Given the description of an element on the screen output the (x, y) to click on. 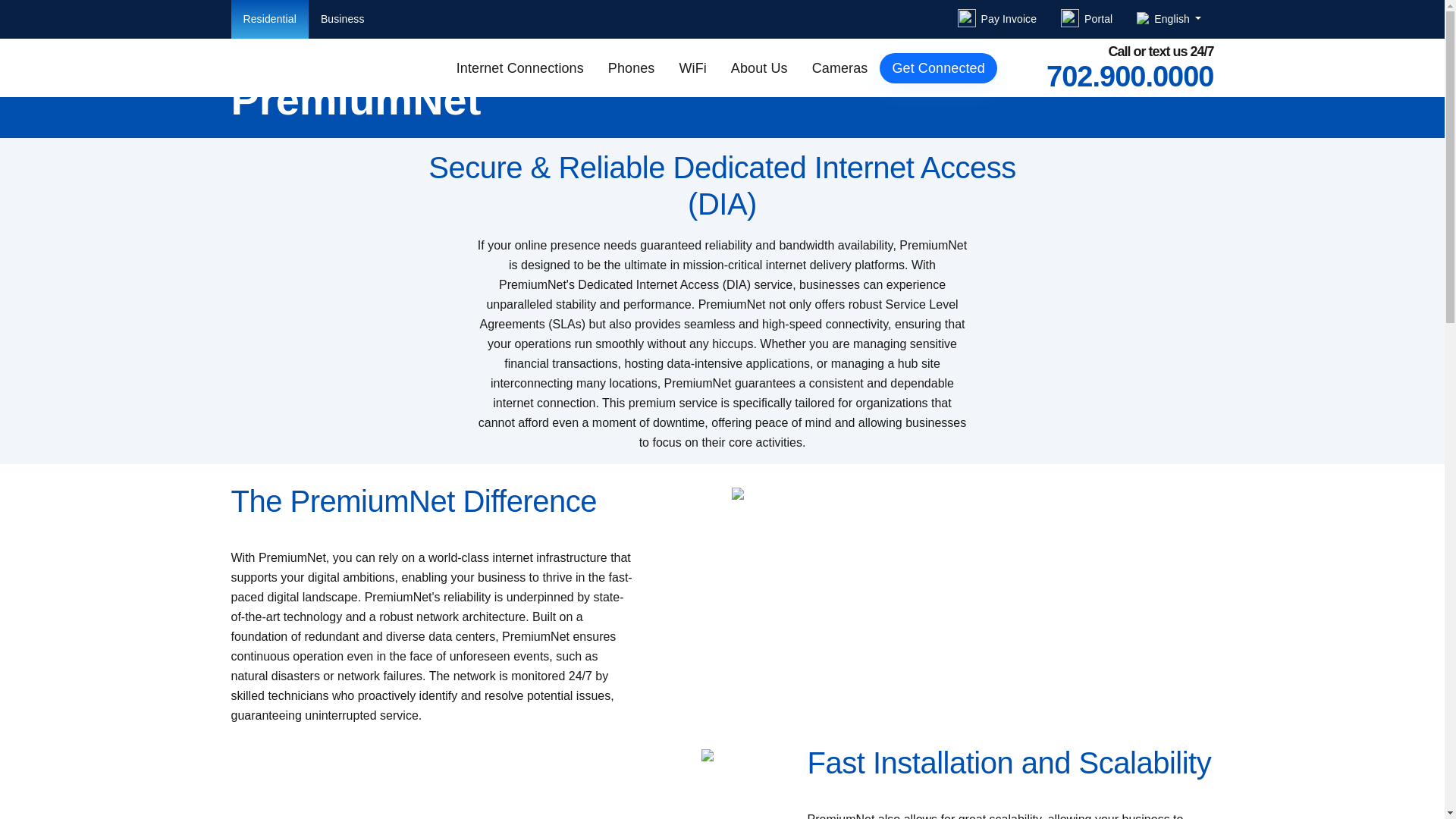
English (1168, 19)
Internet Connections (519, 68)
Get Connected (937, 68)
702.900.0000 (1129, 76)
Business (342, 19)
Phones (630, 68)
Pay Invoice (996, 19)
Portal (1086, 19)
Residential (268, 19)
About Us (759, 68)
